Given the description of an element on the screen output the (x, y) to click on. 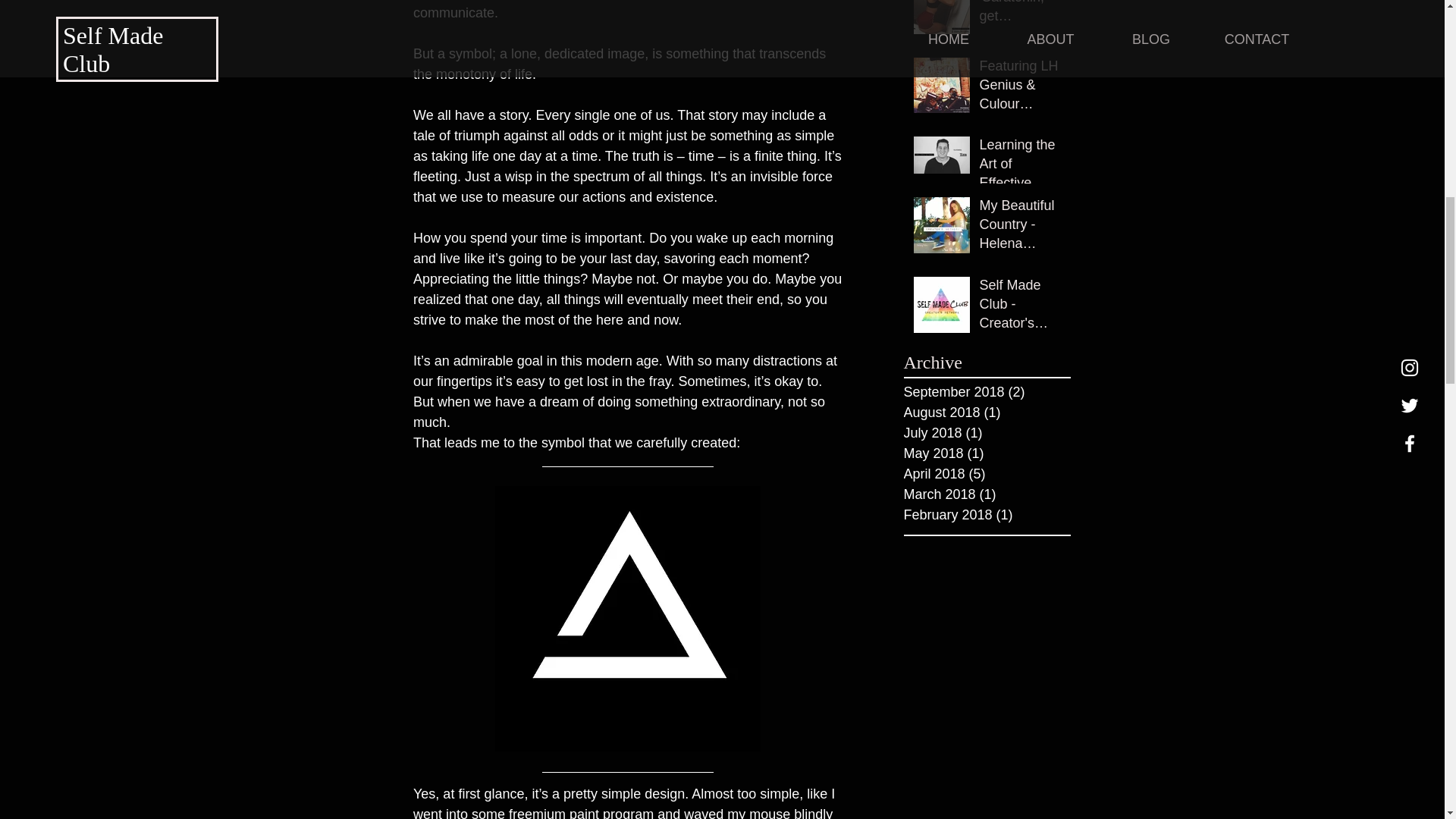
Learning the Art of Effective Leadership - Zebulan Hundley (1020, 167)
My Beautiful Country - Helena Salreta (1020, 228)
Self Made Club - Creator's Network (1020, 307)
